Given the description of an element on the screen output the (x, y) to click on. 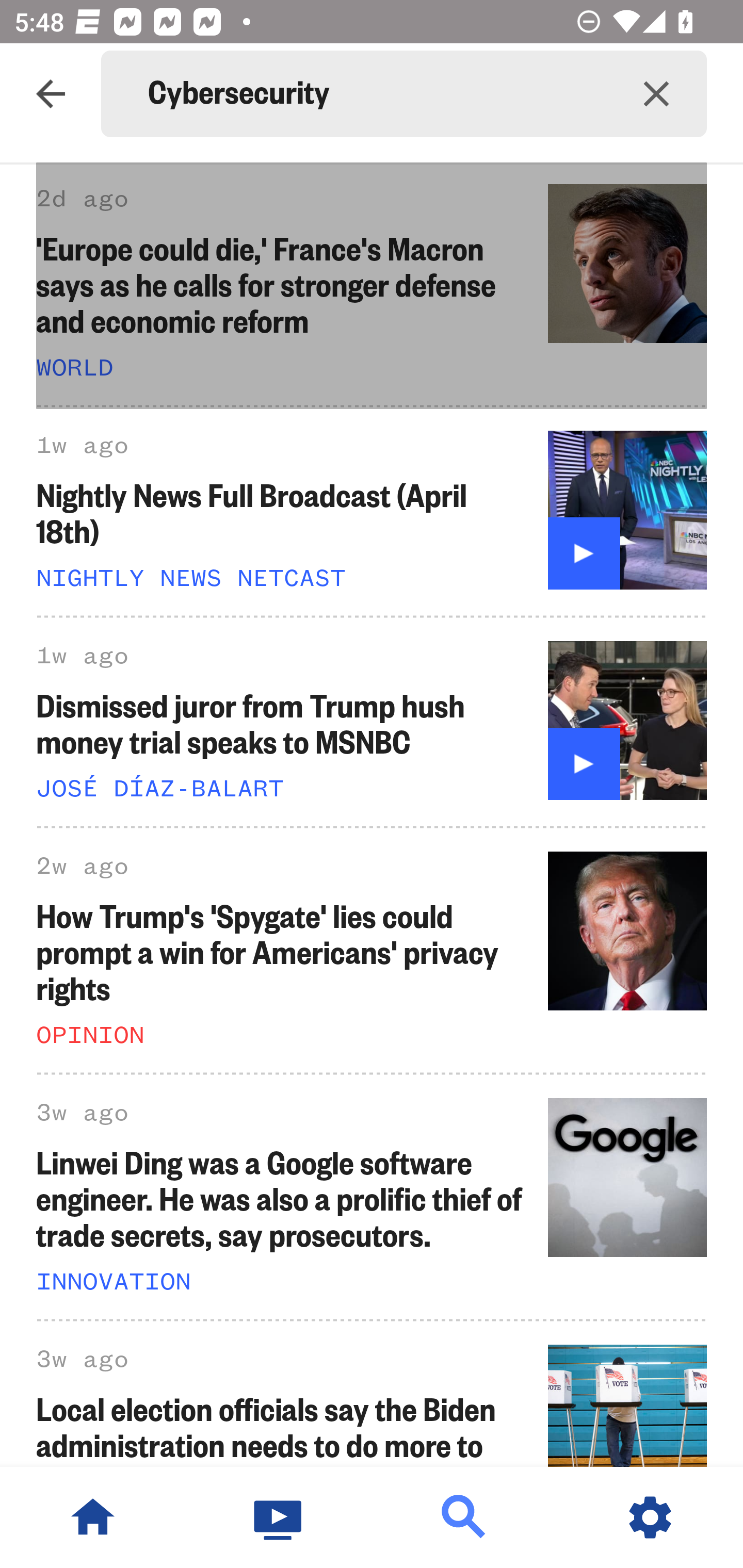
Navigate up (50, 93)
Clear query (656, 93)
Cybersecurity (376, 94)
NBC News Home (92, 1517)
Watch (278, 1517)
Settings (650, 1517)
